Given the description of an element on the screen output the (x, y) to click on. 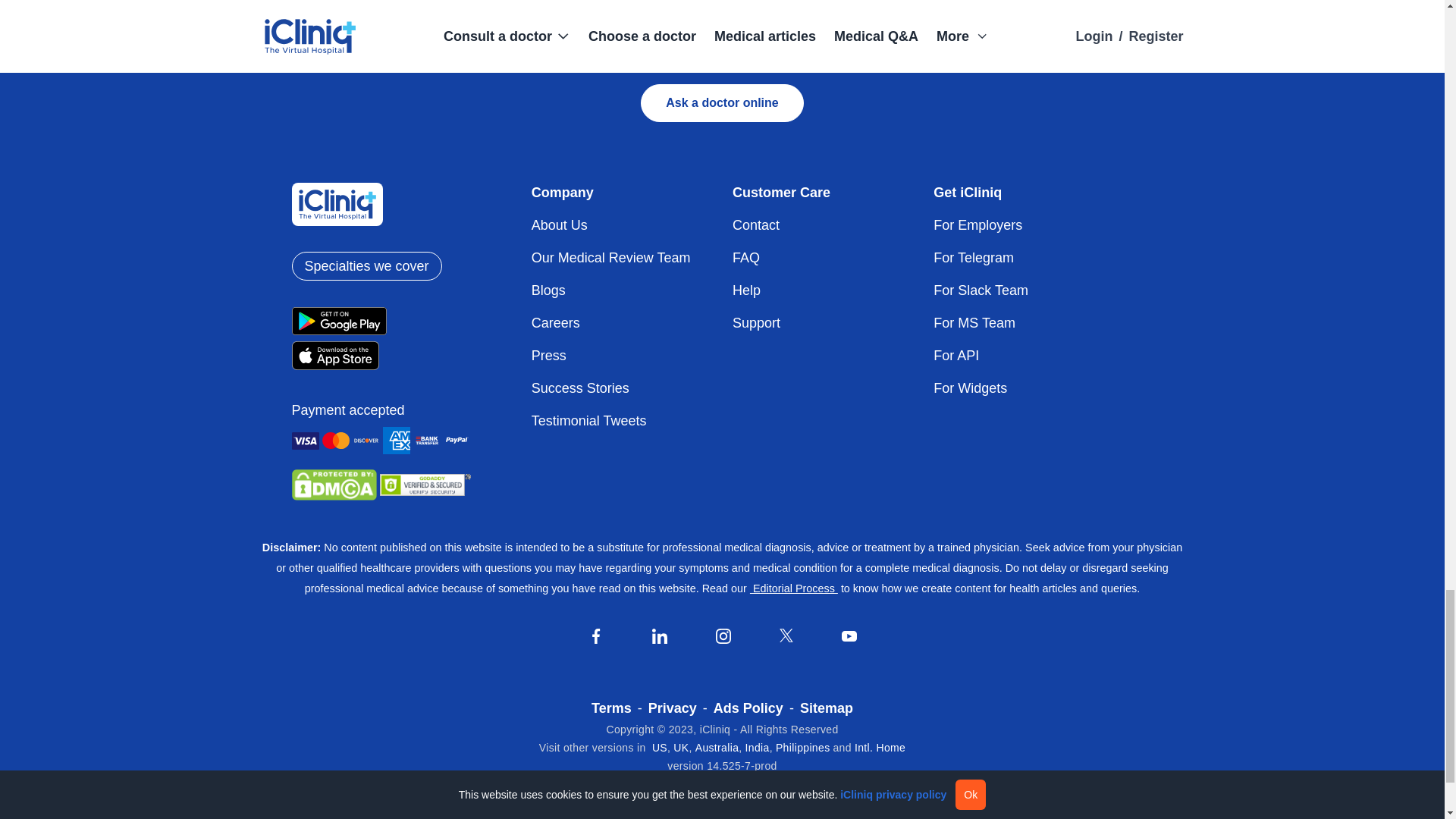
godaddy ssl seal (425, 485)
iCliniq UK (680, 747)
twitter (785, 635)
linkedin (659, 635)
instagram (723, 635)
iCliniq India (757, 747)
youtube (849, 635)
iCliniq Philippines (802, 747)
DMCA.com Protection Status (334, 484)
iCliniq Australia (717, 747)
facebook (596, 635)
iCliniq America (659, 747)
iCliniq Home (879, 747)
